Given the description of an element on the screen output the (x, y) to click on. 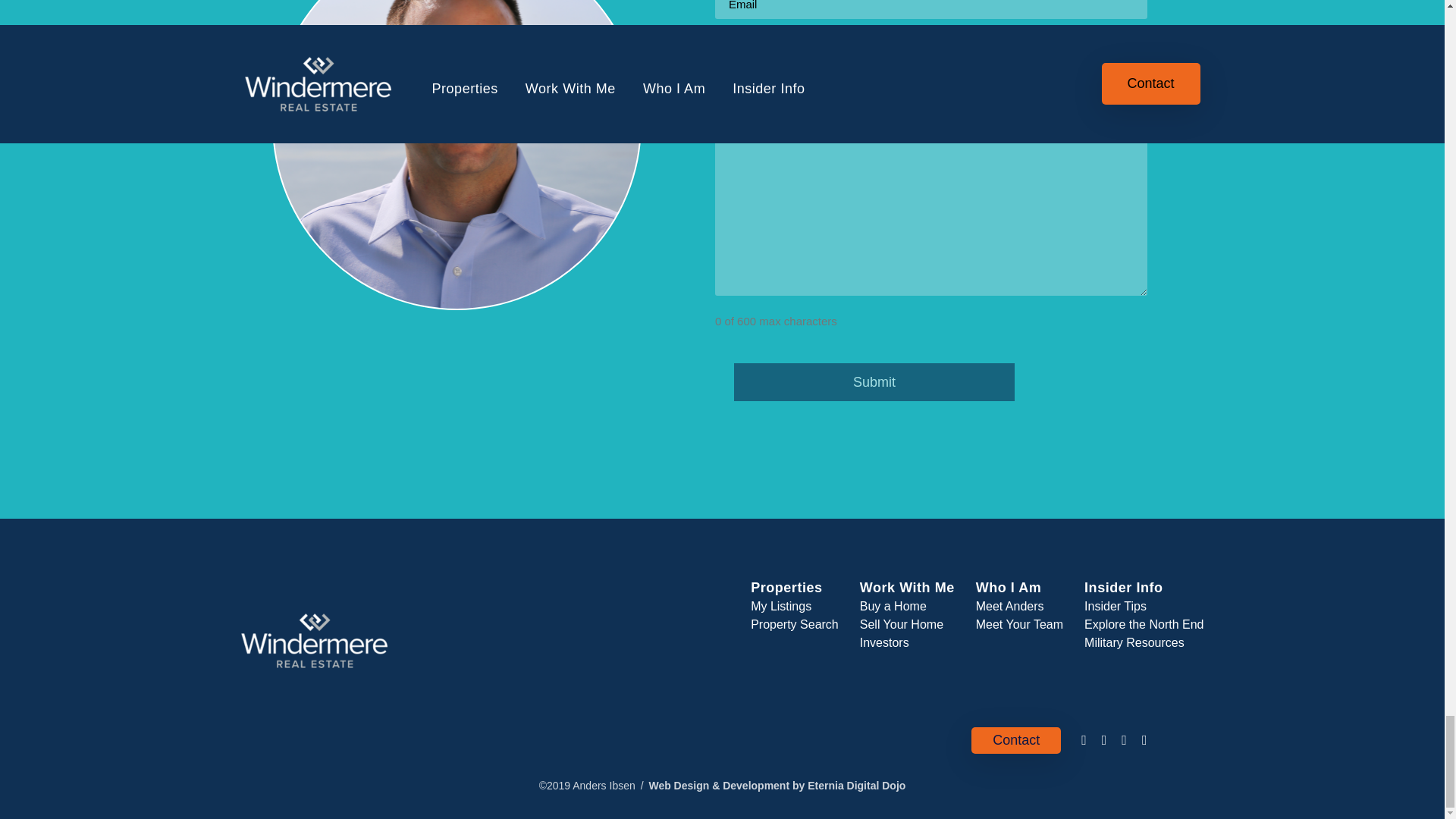
Submit (873, 382)
